Given the description of an element on the screen output the (x, y) to click on. 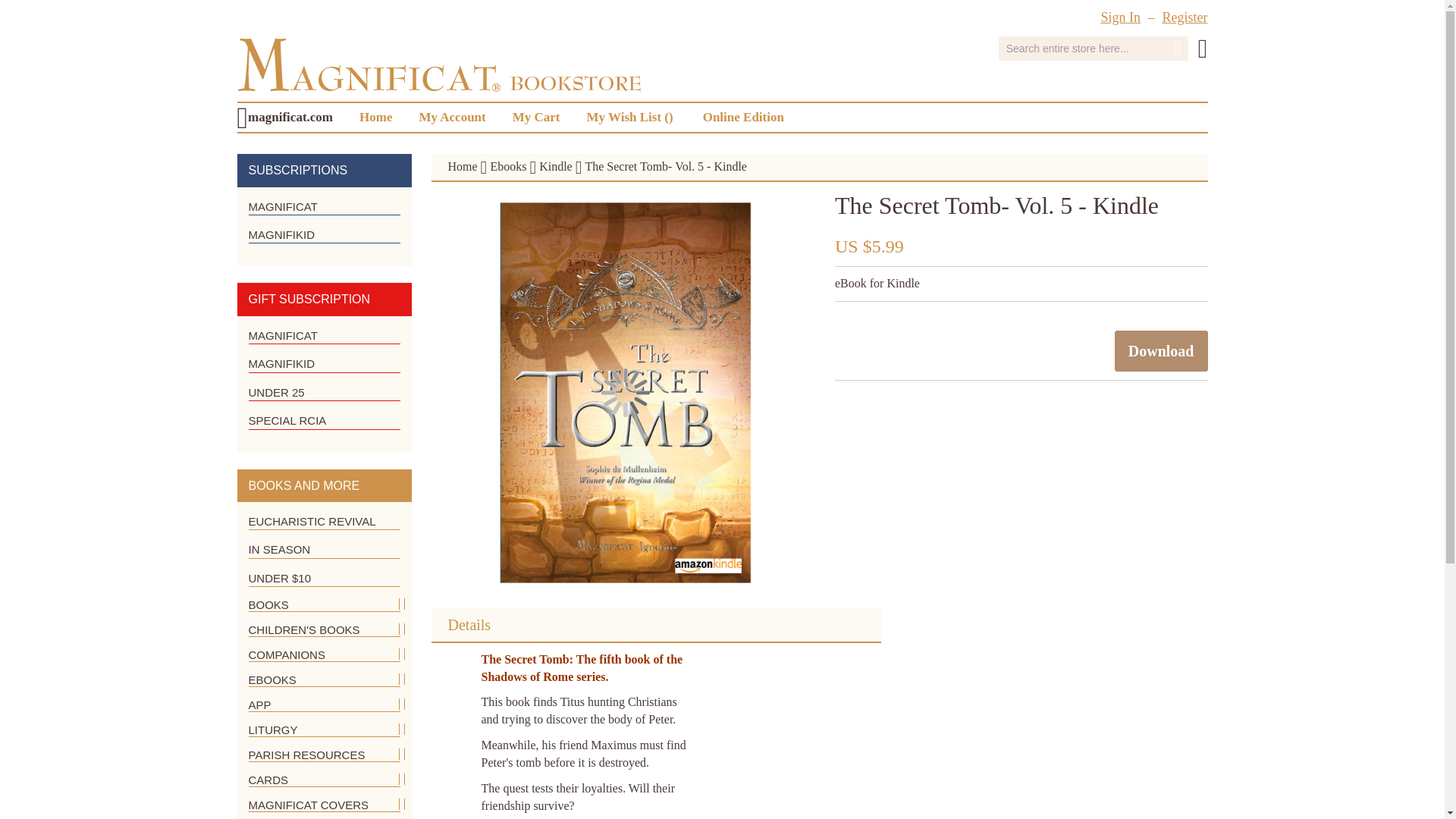
Sign In (1120, 17)
Online Edition (743, 116)
Magnificat bookstore (437, 64)
My Wish List (630, 116)
Download (1161, 350)
Go to Home Page (461, 165)
magnificat.com (292, 117)
Search (1177, 49)
Register (1184, 17)
My Cart (1203, 48)
My Account (452, 116)
My Cart (536, 116)
Search (1177, 49)
Home (375, 116)
